Given the description of an element on the screen output the (x, y) to click on. 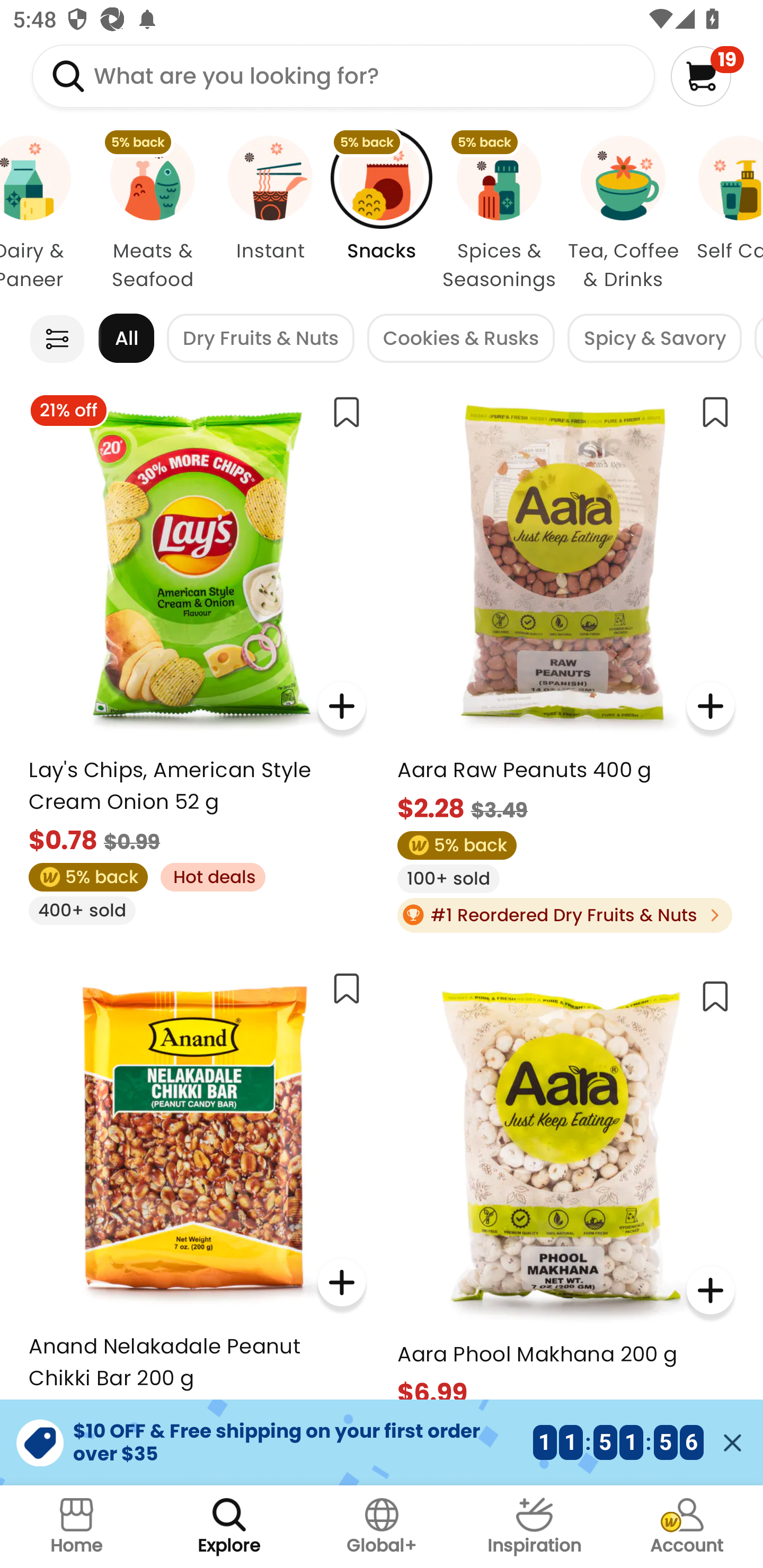
What are you looking for? (343, 75)
19 (706, 75)
Dairy & Paneer (45, 214)
5% back Meats & Seafood (152, 214)
Instant (269, 214)
5% back Snacks (381, 214)
5% back Spices & Seasonings (498, 214)
Tea, Coffee & Drinks (622, 214)
Self Care (724, 214)
All (126, 337)
Dry Fruits & Nuts (260, 337)
Cookies & Rusks (460, 337)
Spicy & Savory (654, 337)
Aara Phool Makhana 200 g $6.99 5% back 50+ sold (565, 1224)
Home (76, 1526)
Explore (228, 1526)
Global+ (381, 1526)
Inspiration (533, 1526)
Account (686, 1526)
